Given the description of an element on the screen output the (x, y) to click on. 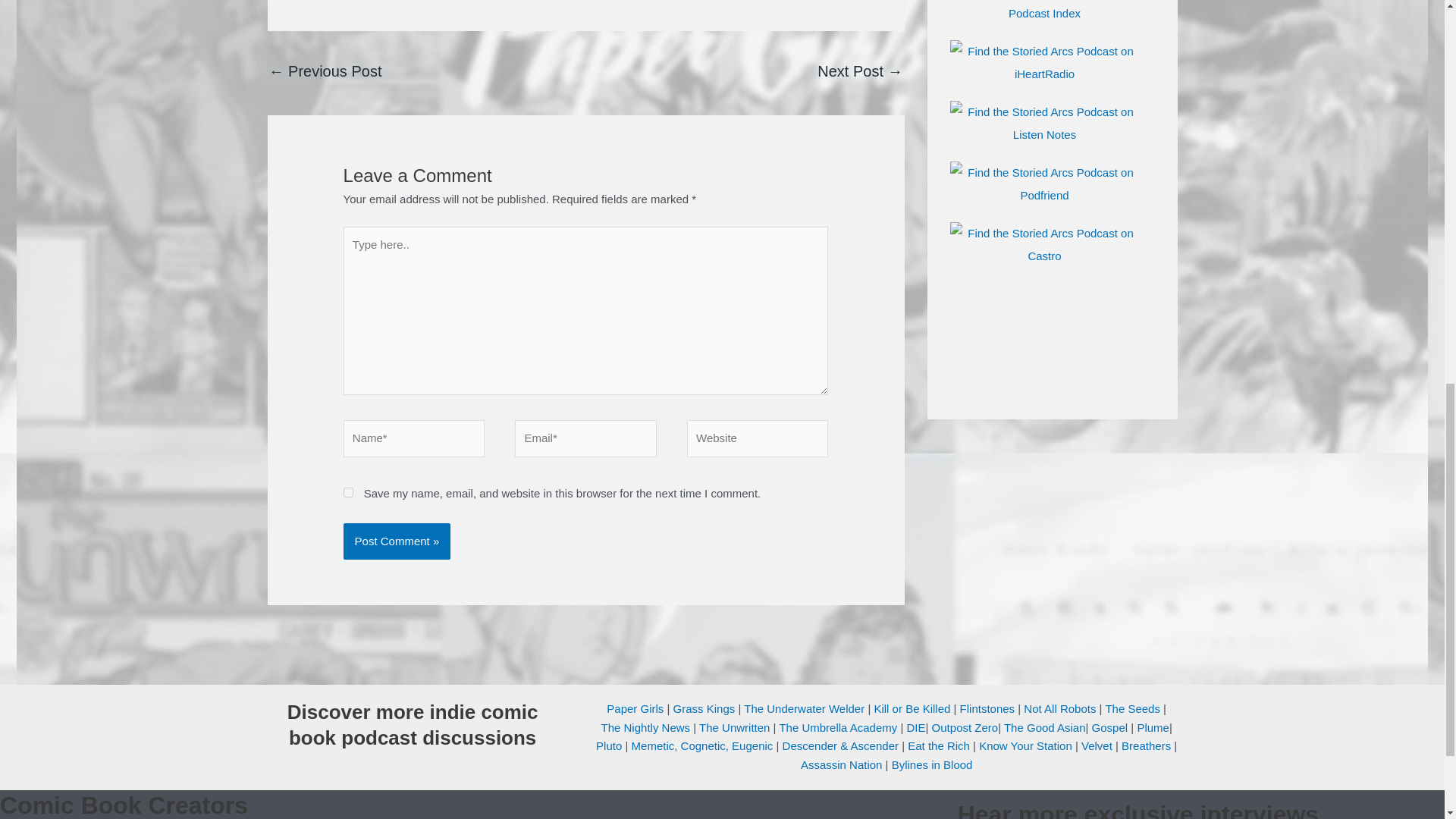
yes (348, 492)
